Given the description of an element on the screen output the (x, y) to click on. 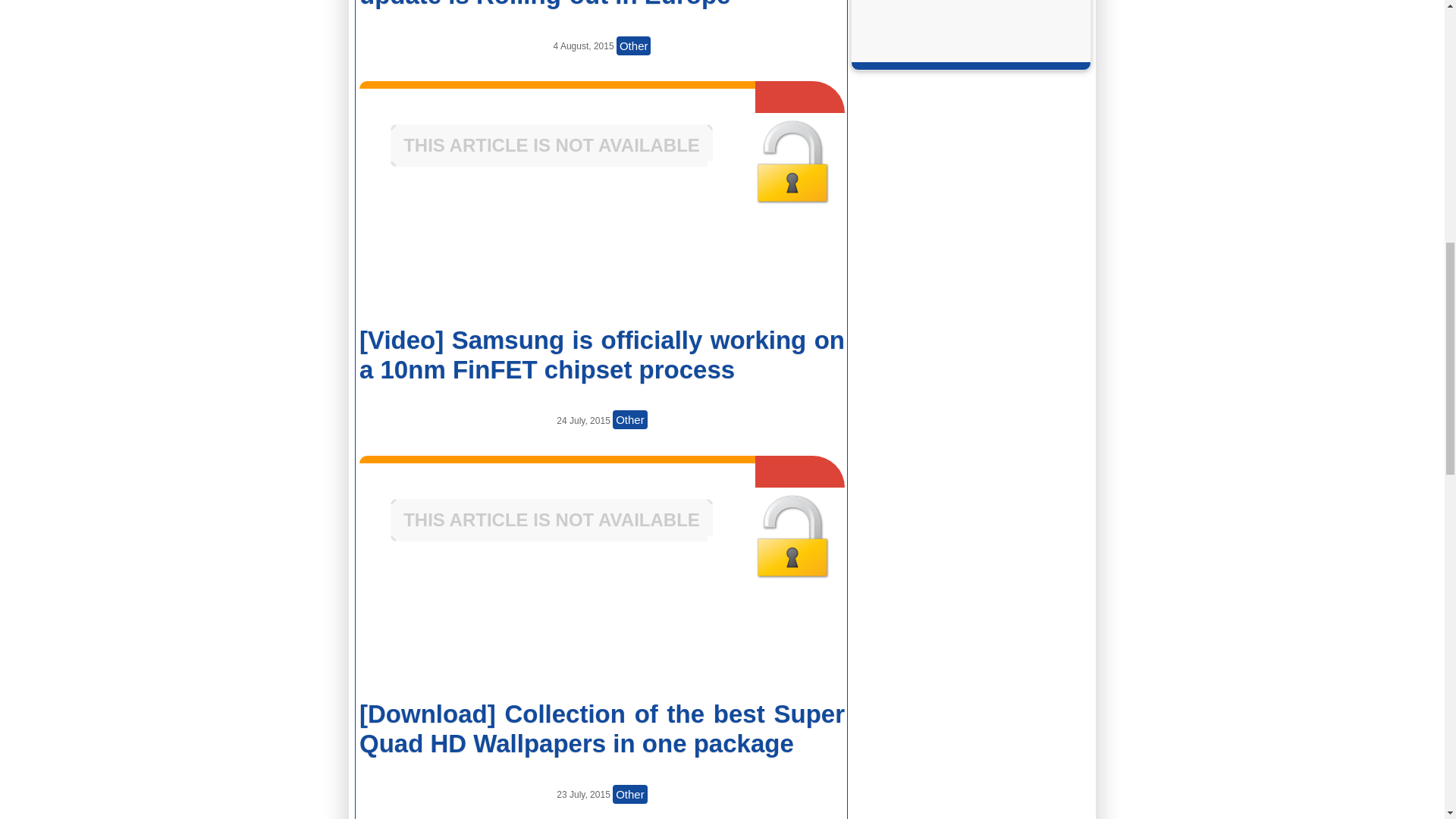
Share This Article on Facebook (440, 637)
Share This Article on Facebook (440, 263)
Share This Article on Twitter (760, 637)
Share This Article on Twitter (760, 263)
